Given the description of an element on the screen output the (x, y) to click on. 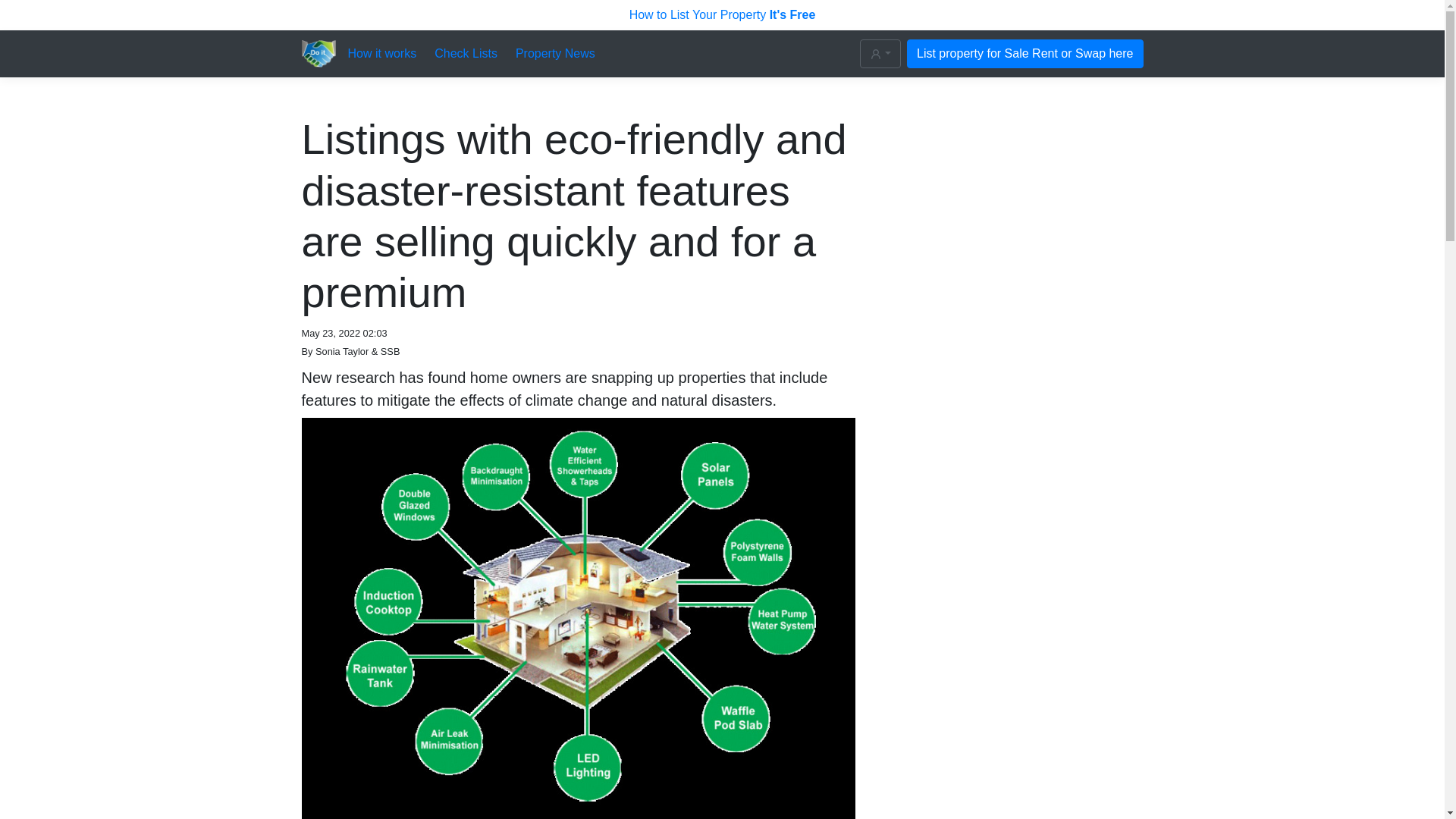
Check Lists (465, 54)
How it works (381, 54)
Property News (555, 54)
List property for Sale Rent or Swap here (1024, 53)
